Given the description of an element on the screen output the (x, y) to click on. 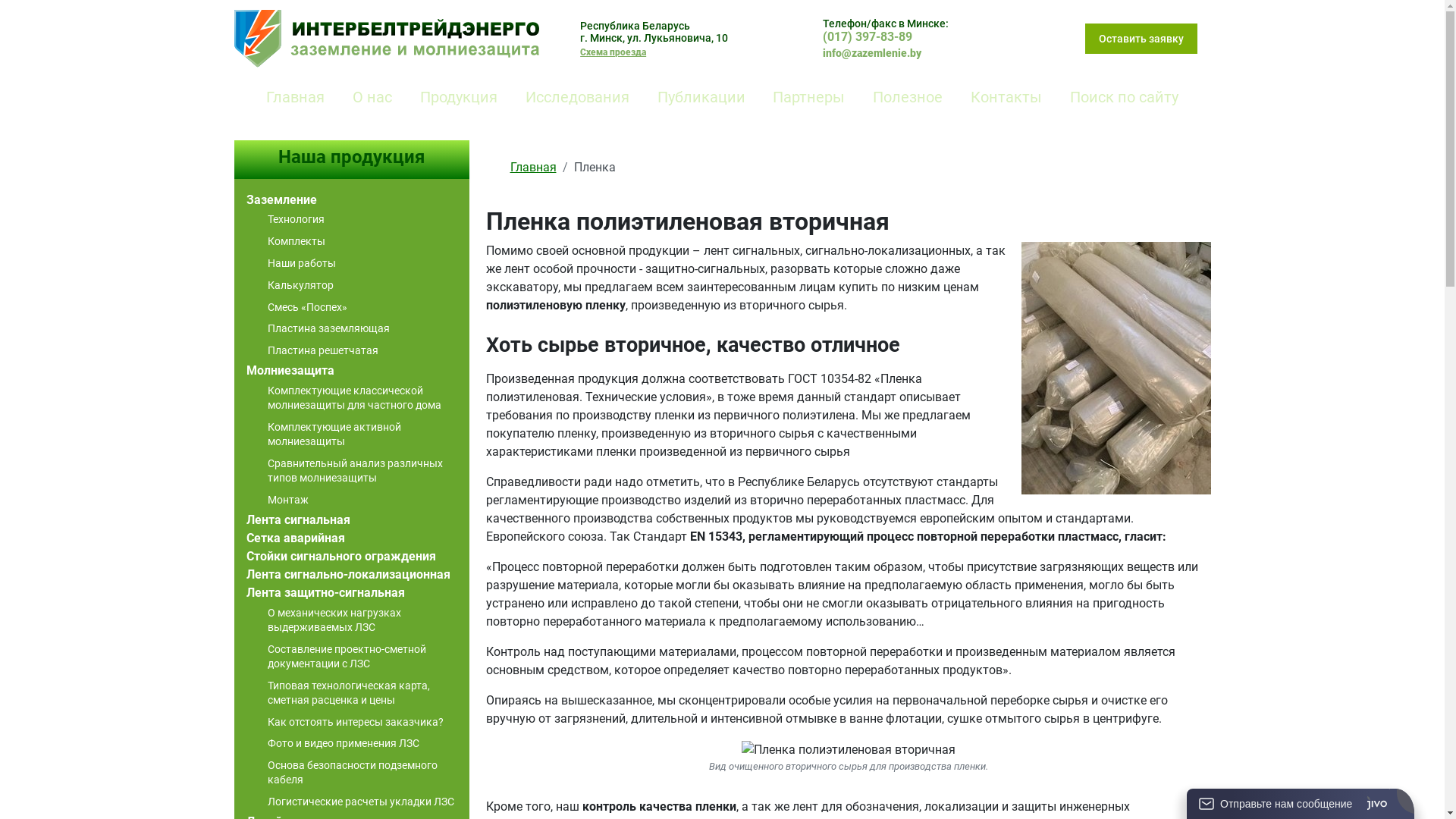
(017) 397-83-89 Element type: text (867, 36)
info@zazemlenie.by Element type: text (871, 53)
